Given the description of an element on the screen output the (x, y) to click on. 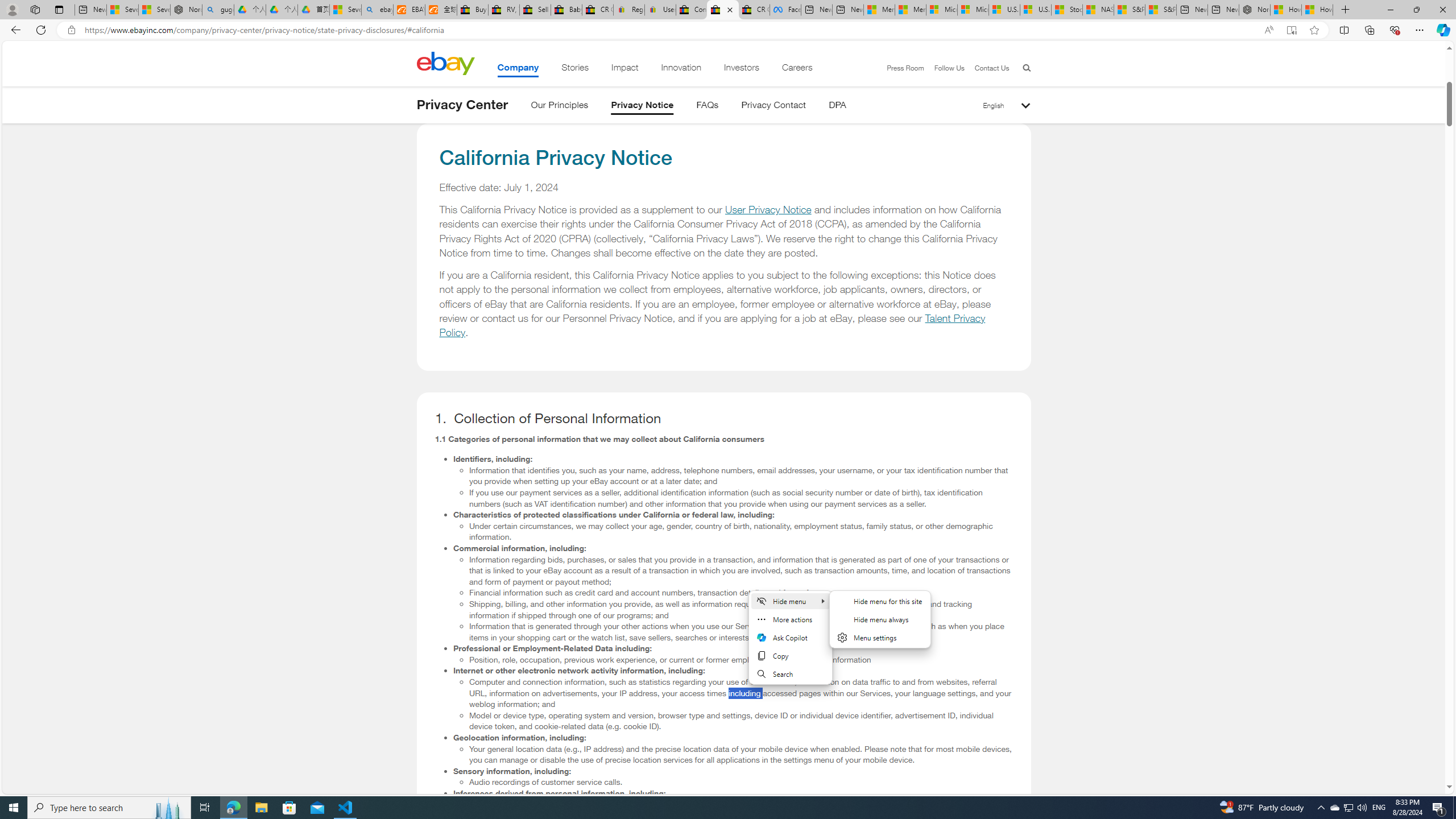
Baby Keepsakes & Announcements for sale | eBay (566, 9)
Hide menu for this site (879, 601)
Mini menu on text selection (789, 637)
User Privacy Notice | eBay (660, 9)
Buy Auto Parts & Accessories | eBay (472, 9)
Hide menu (789, 601)
DPA (836, 107)
